Given the description of an element on the screen output the (x, y) to click on. 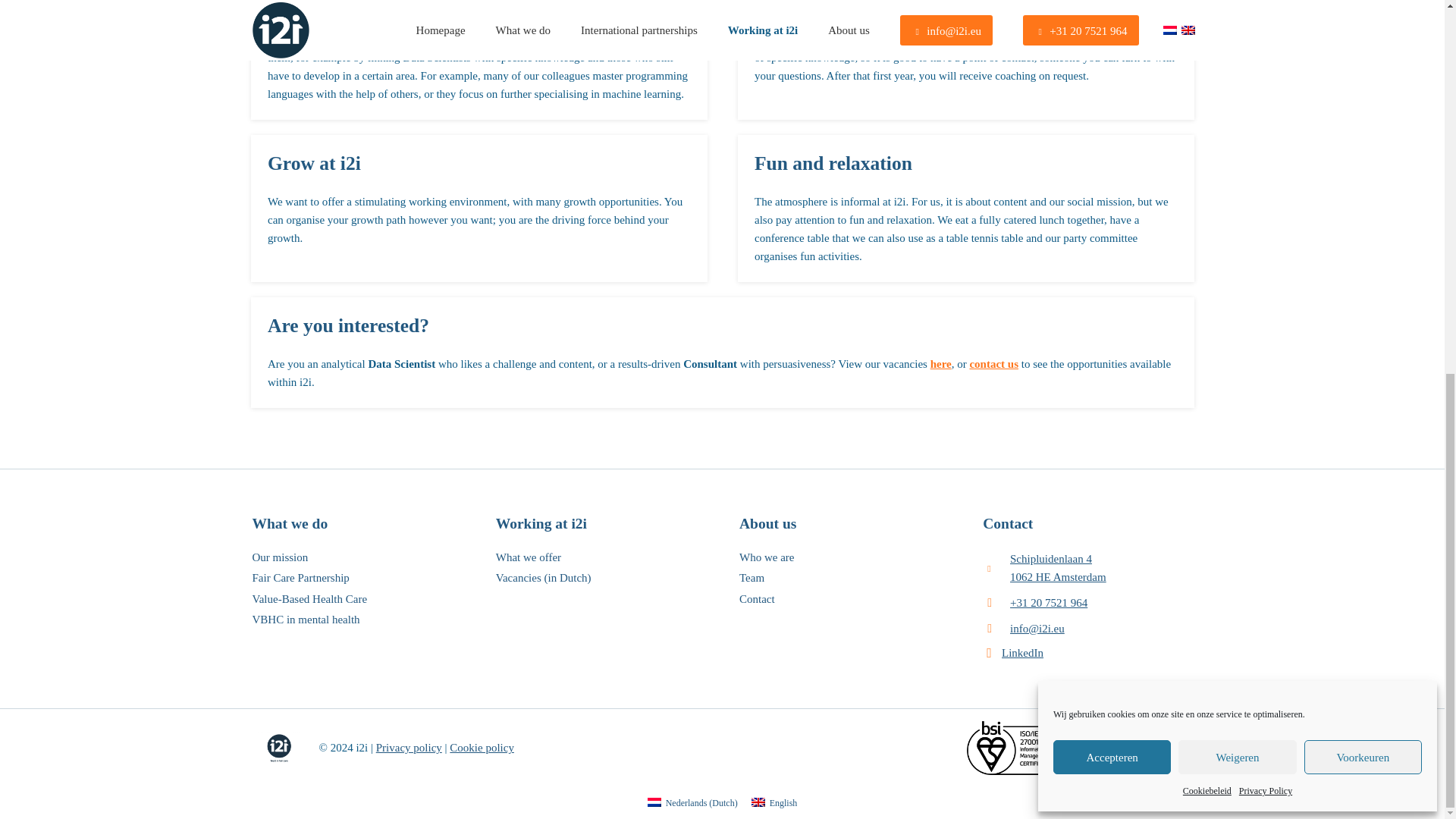
Back to top (1413, 161)
Our mission (279, 557)
What we do (289, 523)
Voorkeuren (1363, 73)
contact us (993, 363)
here (941, 363)
Privacy Policy (1265, 106)
Cookiebeleid (1206, 106)
Weigeren (1236, 73)
Accepteren (1111, 73)
